Given the description of an element on the screen output the (x, y) to click on. 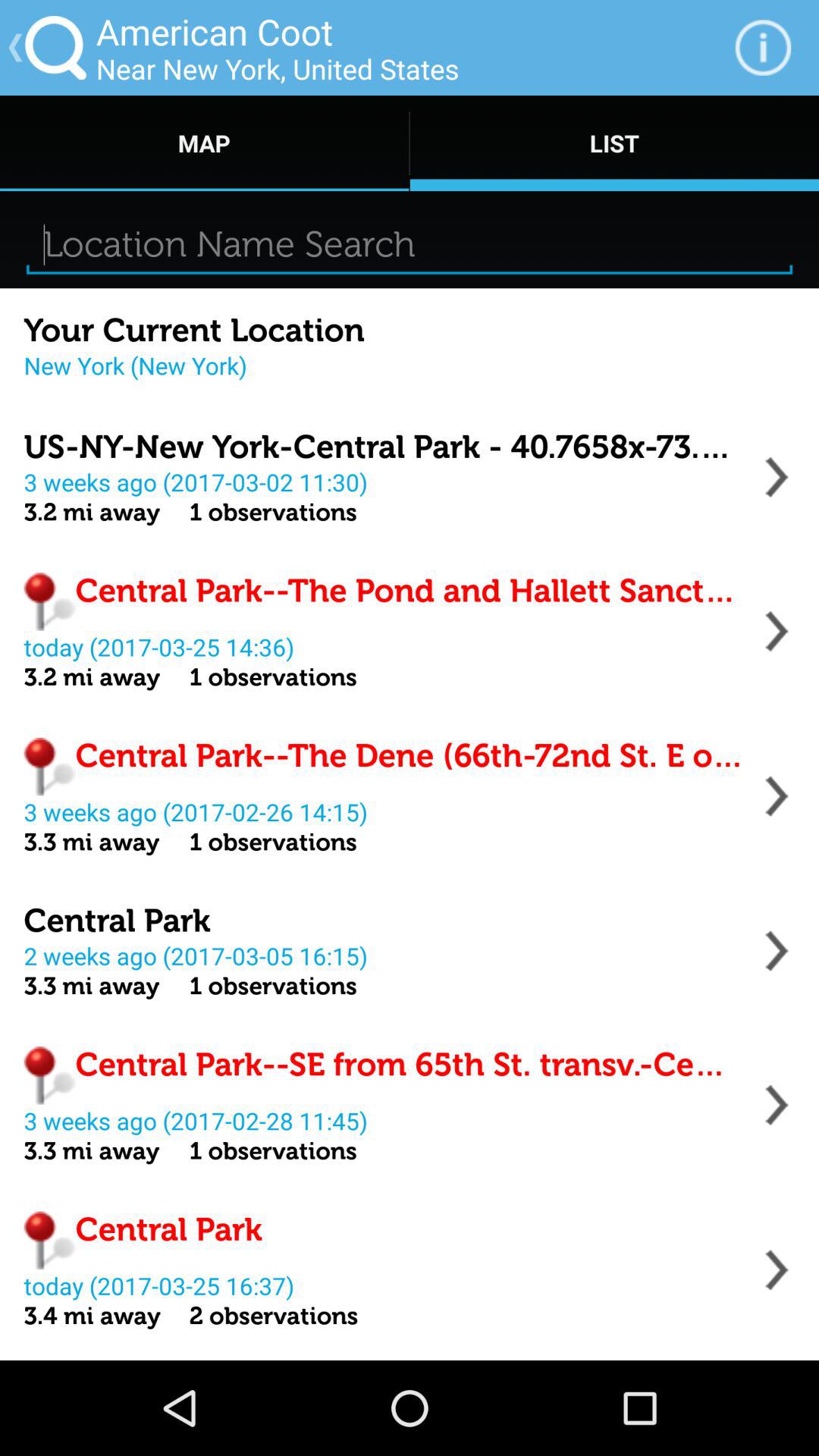
turn on app below map item (409, 244)
